Given the description of an element on the screen output the (x, y) to click on. 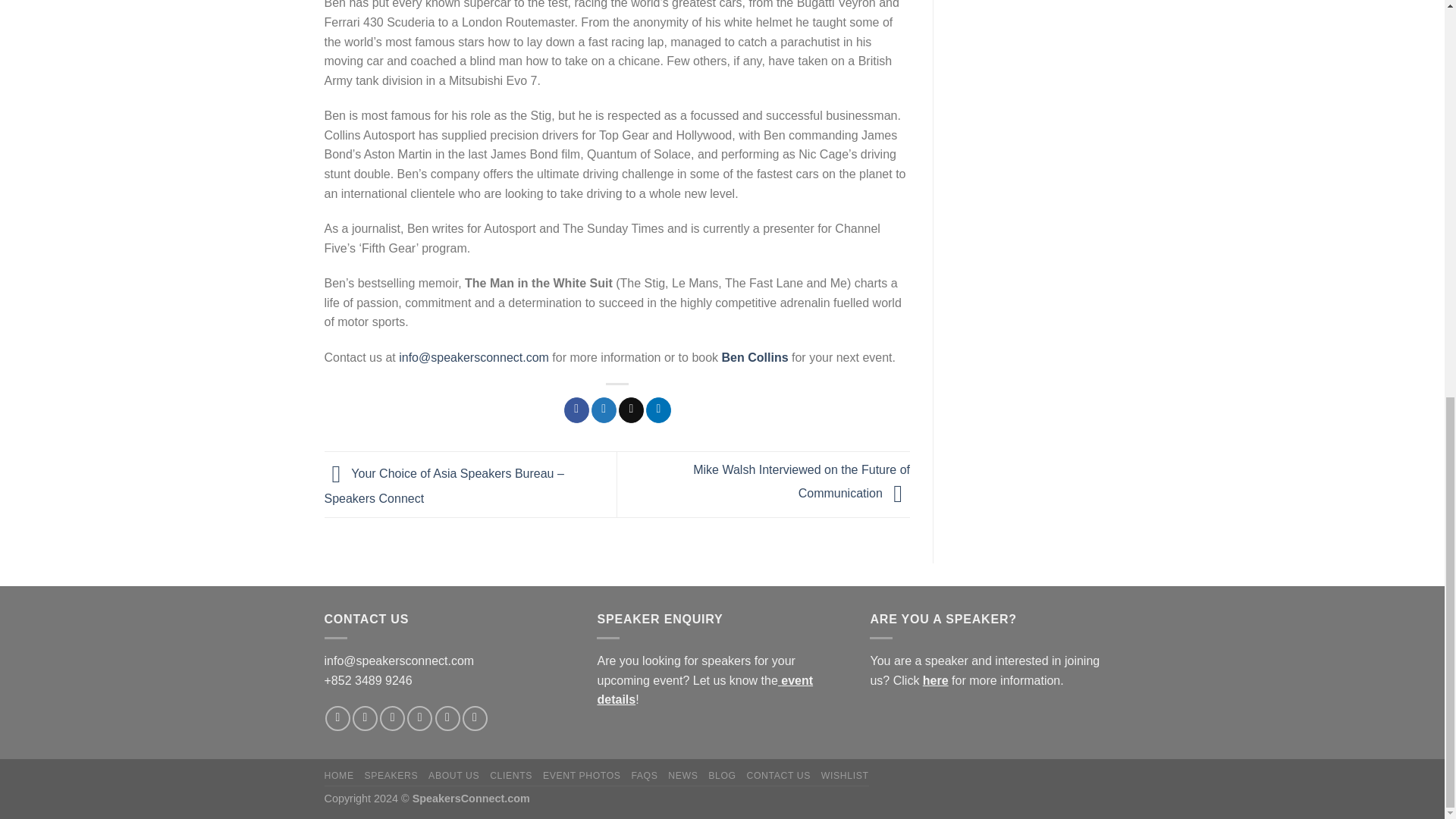
Follow on Facebook (337, 718)
event details (704, 690)
Share on LinkedIn (658, 410)
Send us an email (419, 718)
Ben Collins (755, 357)
Flickr (475, 718)
Follow on LinkedIn (447, 718)
Share on Facebook (576, 410)
Share on Twitter (603, 410)
Email to a Friend (630, 410)
